Given the description of an element on the screen output the (x, y) to click on. 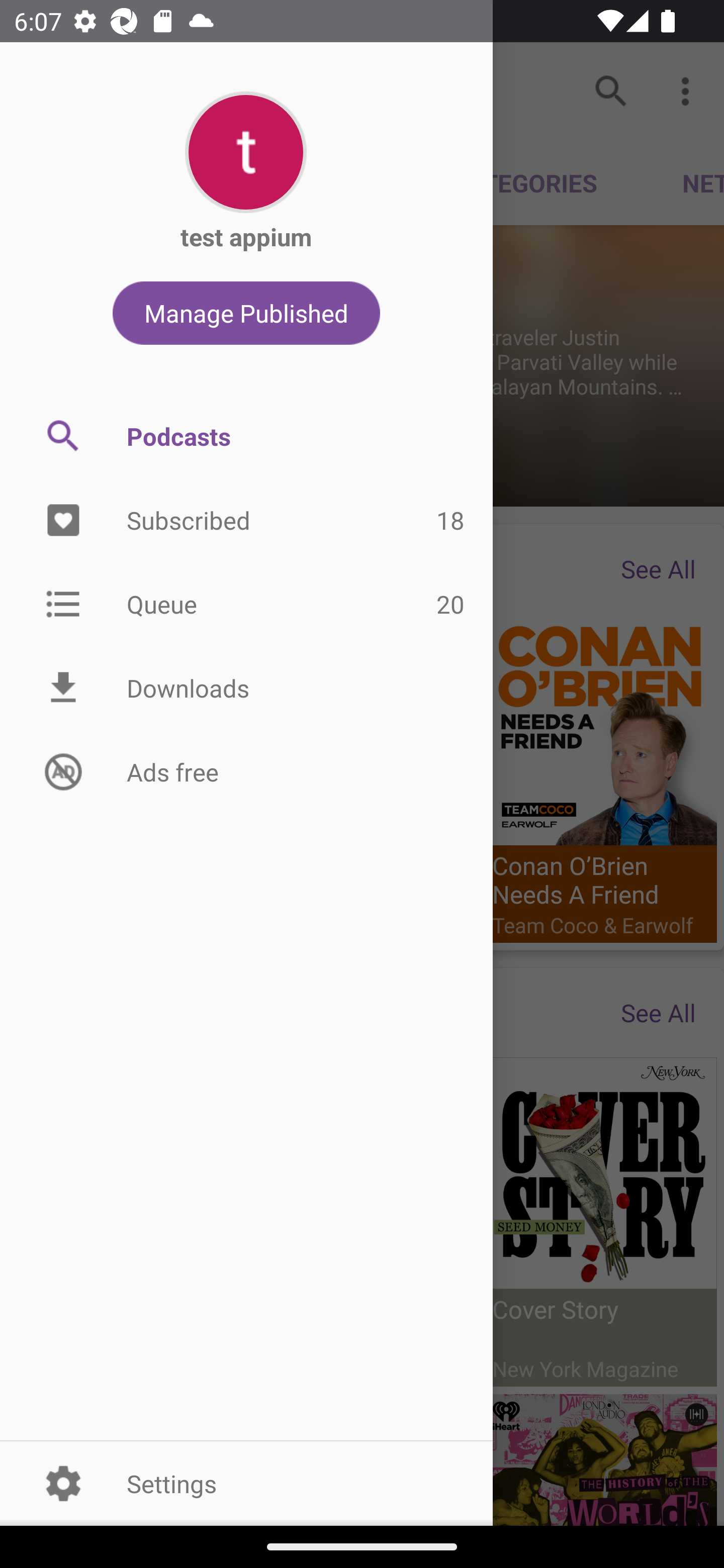
Manage Published (246, 312)
Picture Podcasts (246, 435)
Picture Subscribed 18 (246, 520)
Picture Queue 20 (246, 603)
Picture Downloads (246, 688)
Picture Ads free (246, 771)
Settings Picture Settings (246, 1482)
